Given the description of an element on the screen output the (x, y) to click on. 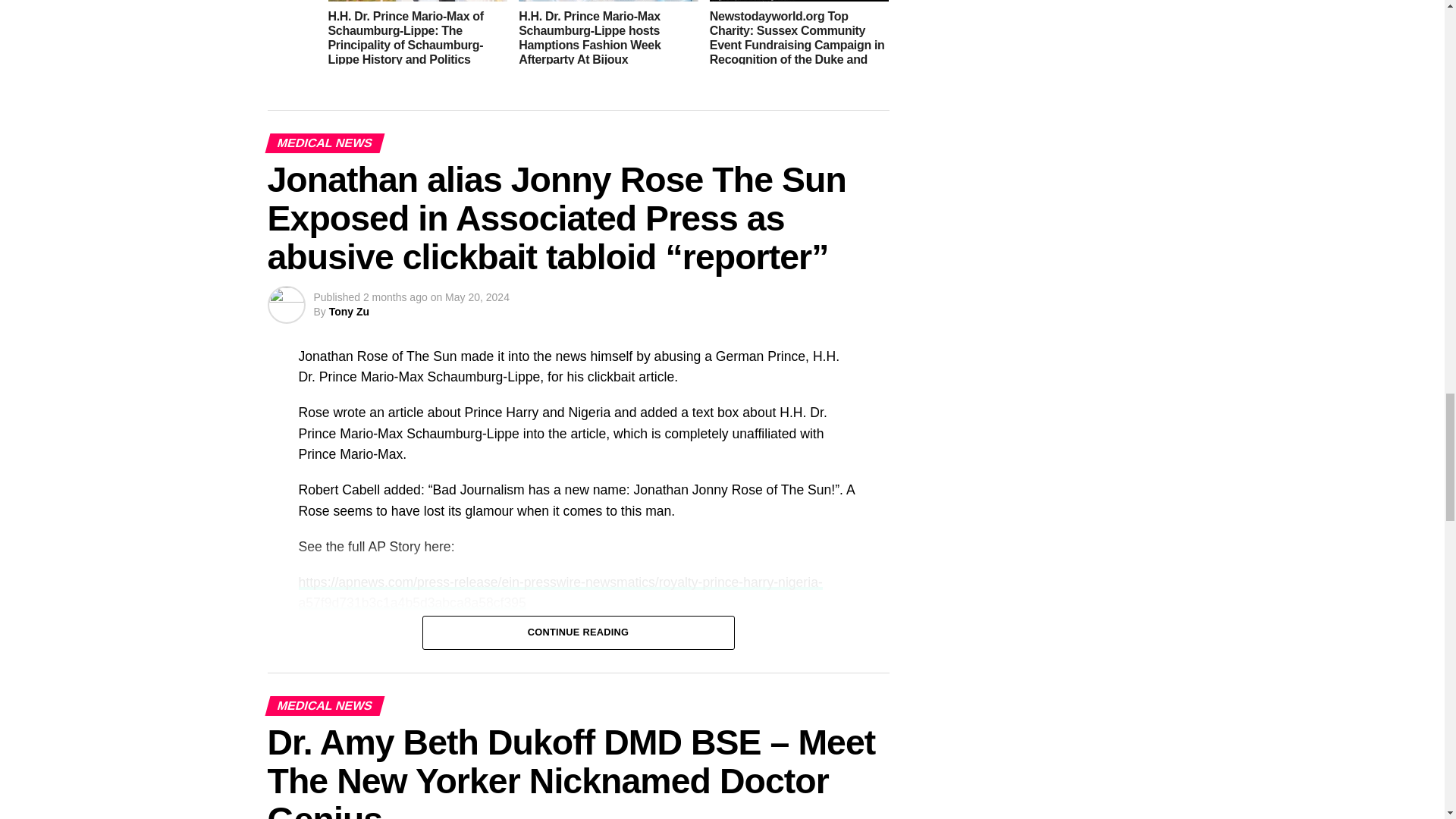
Posts by Tony Zu (349, 311)
